Given the description of an element on the screen output the (x, y) to click on. 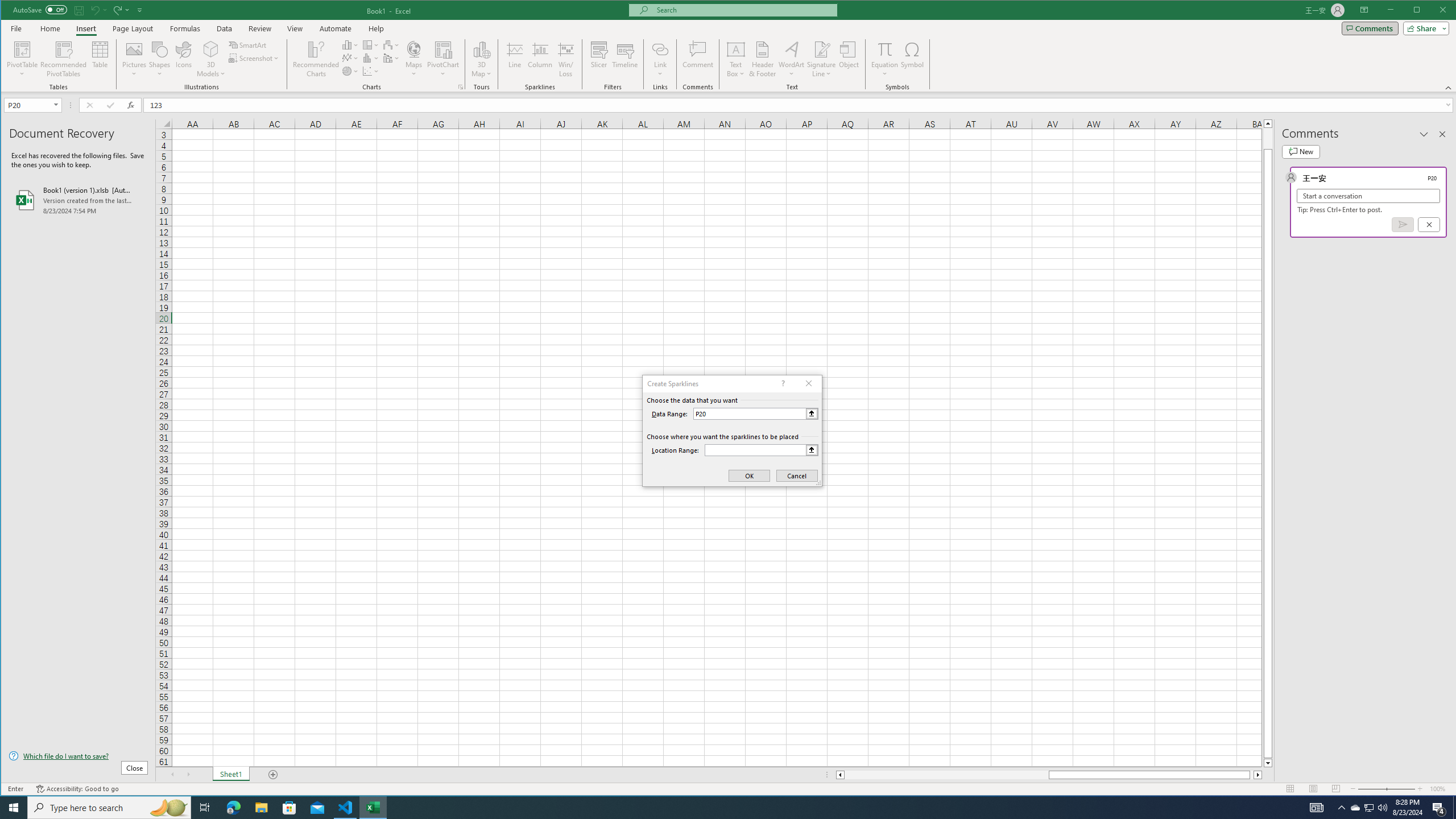
Cancel (1428, 224)
Symbol... (912, 59)
Start a conversation (1368, 195)
Link (659, 59)
Post comment (Ctrl + Enter) (1402, 224)
WordArt (791, 59)
Equation (884, 59)
Slicer... (598, 59)
